Given the description of an element on the screen output the (x, y) to click on. 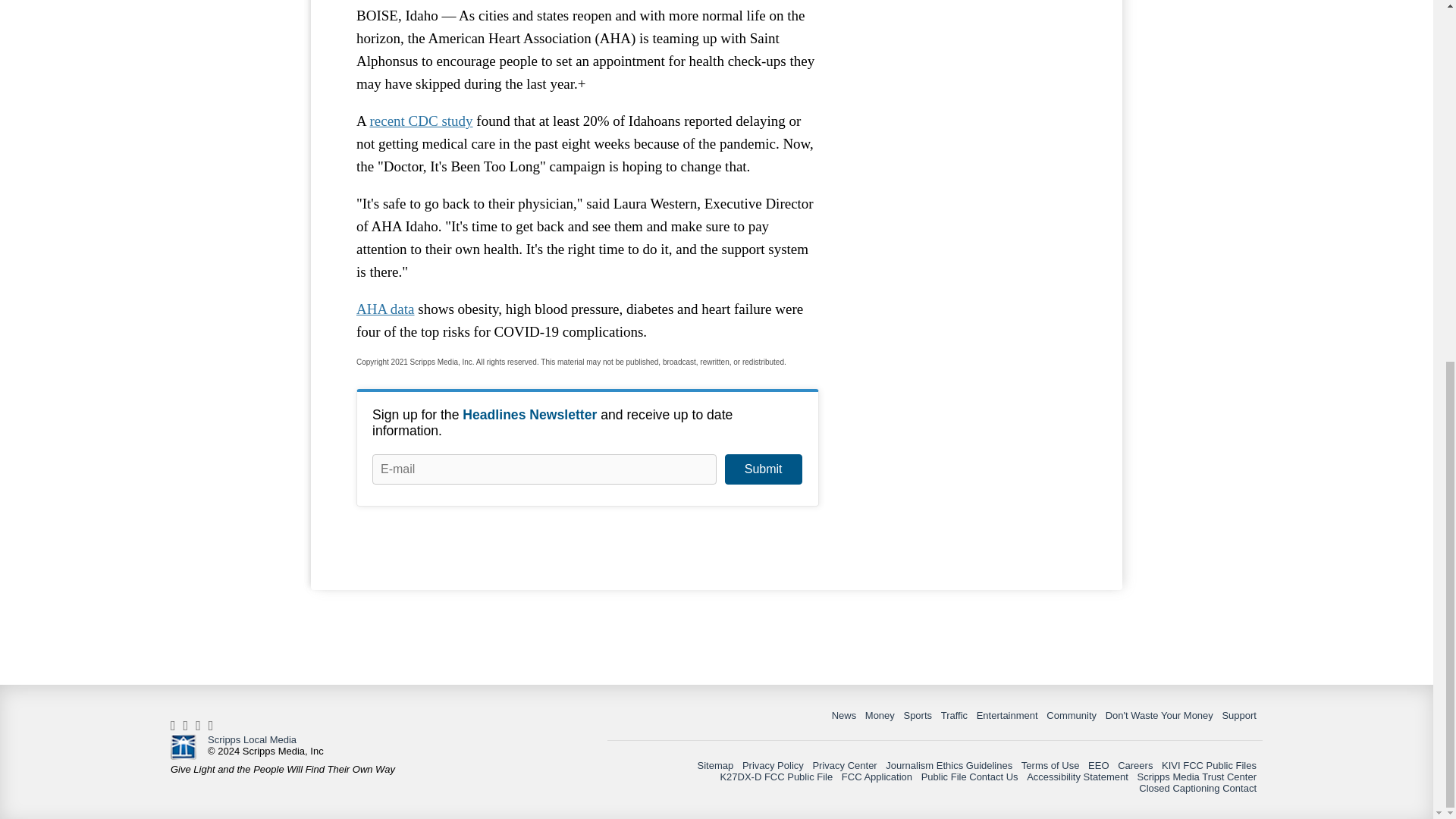
Submit (763, 469)
